Given the description of an element on the screen output the (x, y) to click on. 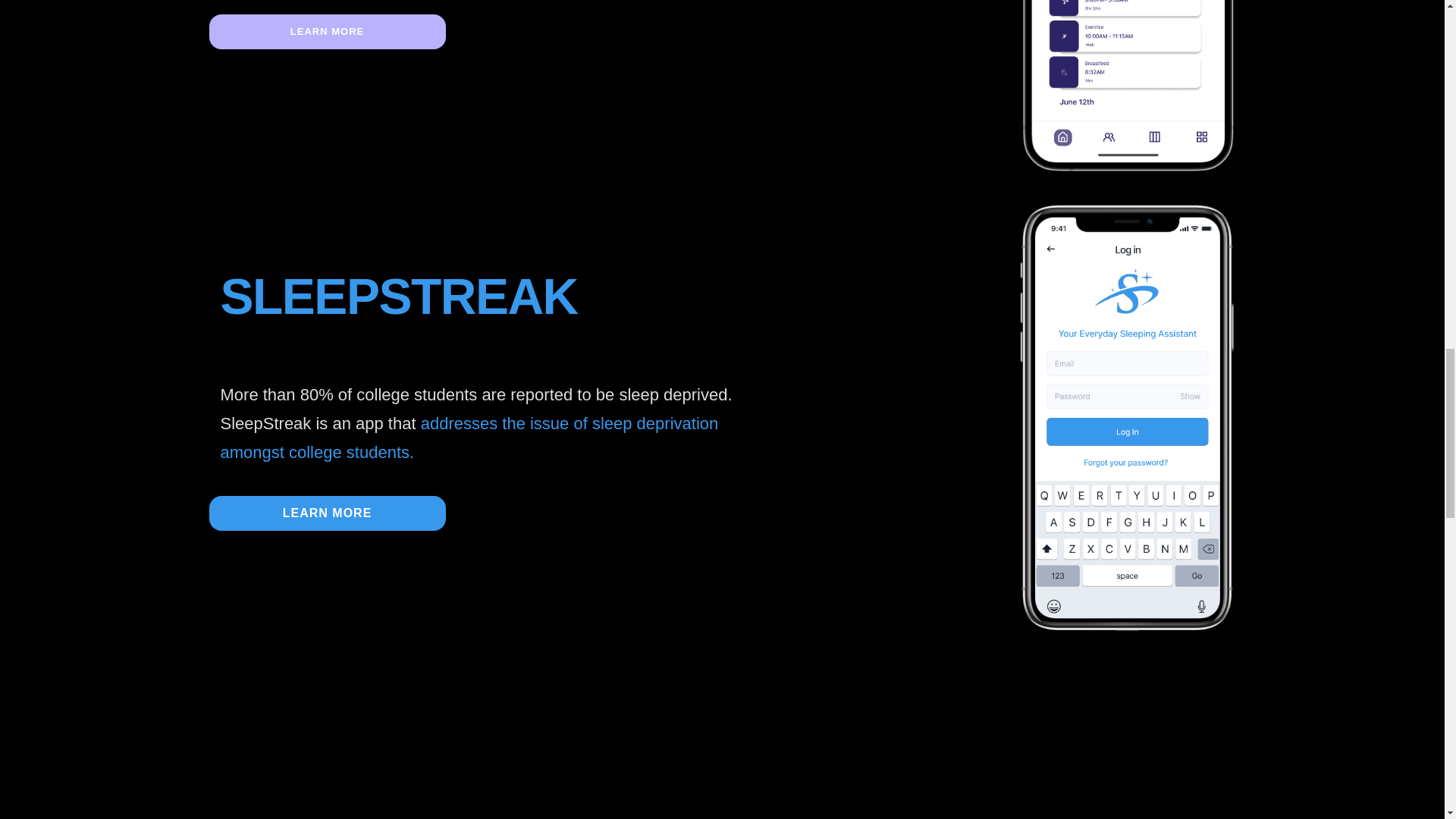
LEARN MORE (327, 513)
LEARN MORE (327, 31)
